Given the description of an element on the screen output the (x, y) to click on. 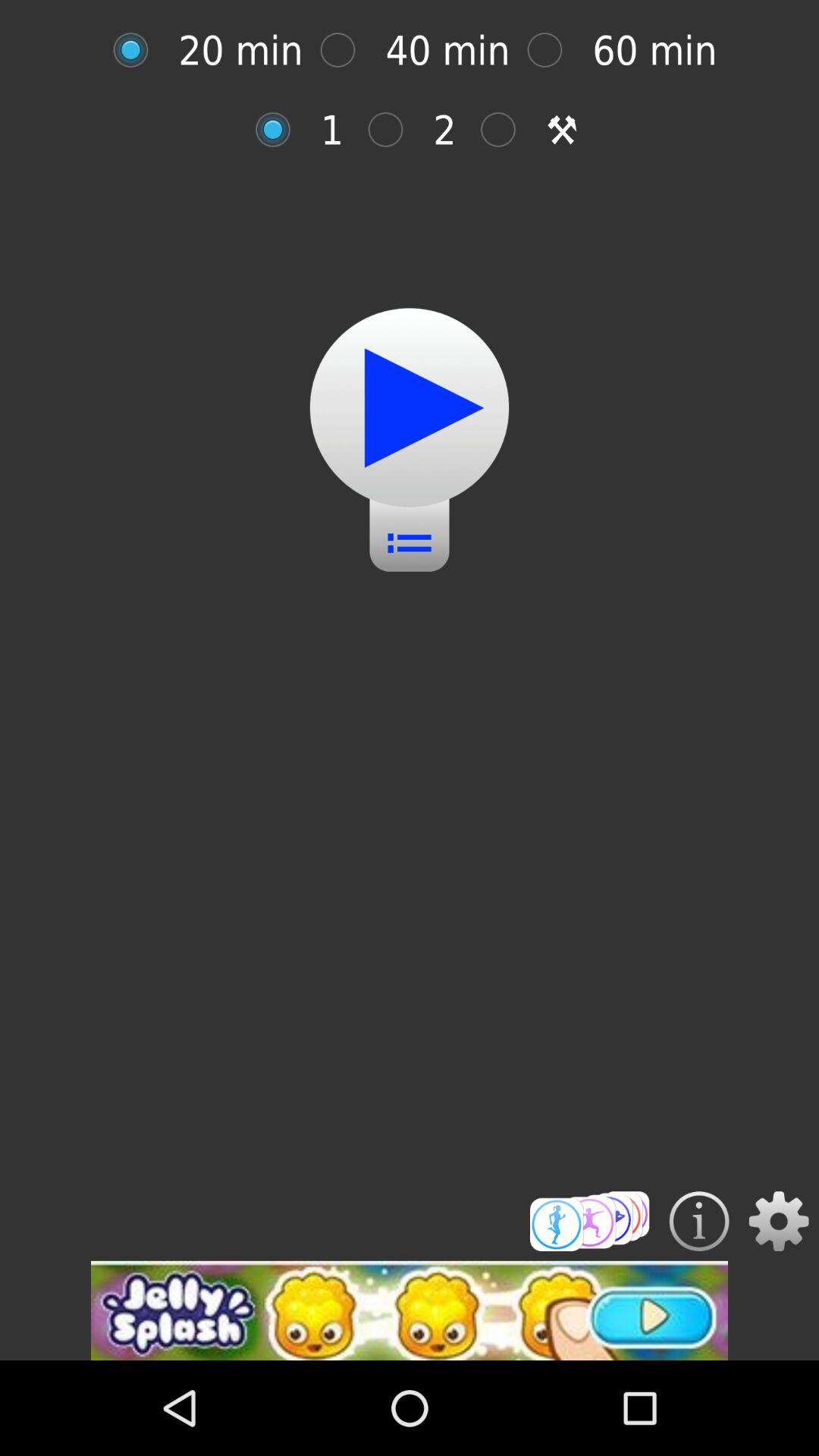
select 20 minute workout option (138, 49)
